Given the description of an element on the screen output the (x, y) to click on. 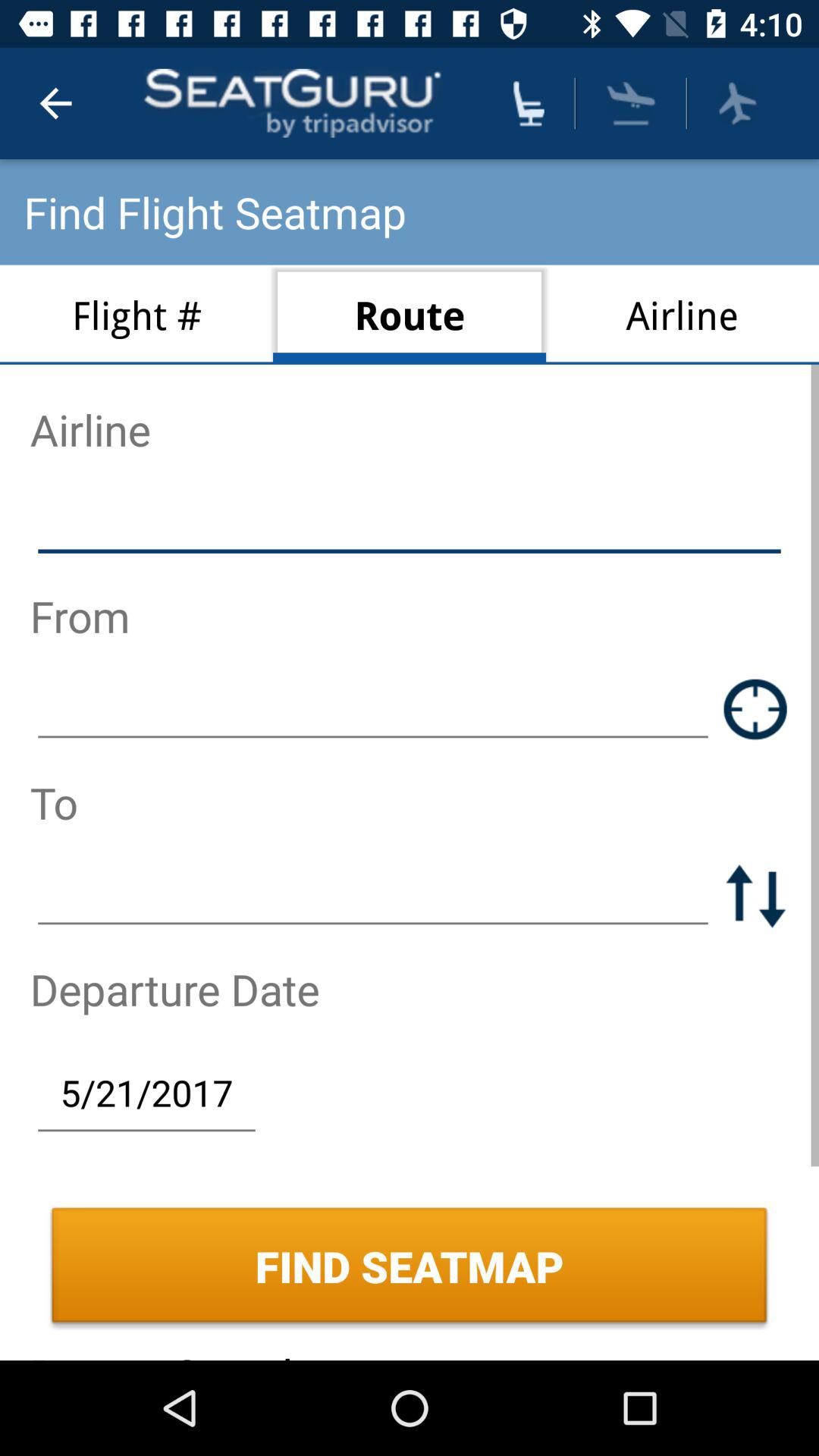
spot where you are (755, 709)
